Given the description of an element on the screen output the (x, y) to click on. 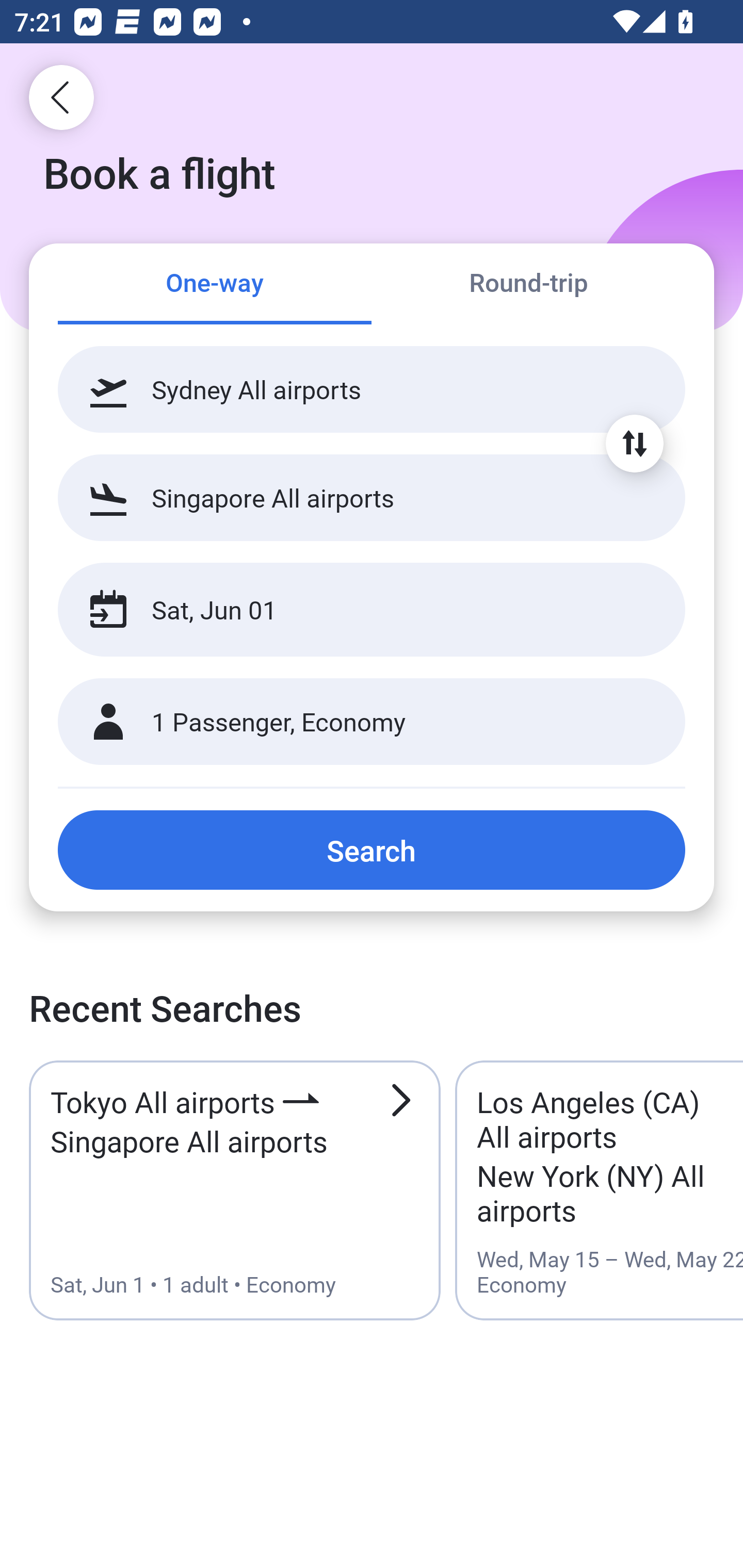
Round-trip (528, 284)
Sydney All airports (371, 389)
Singapore All airports (371, 497)
Sat, Jun 01 (349, 609)
1 Passenger, Economy (371, 721)
Search (371, 849)
